Given the description of an element on the screen output the (x, y) to click on. 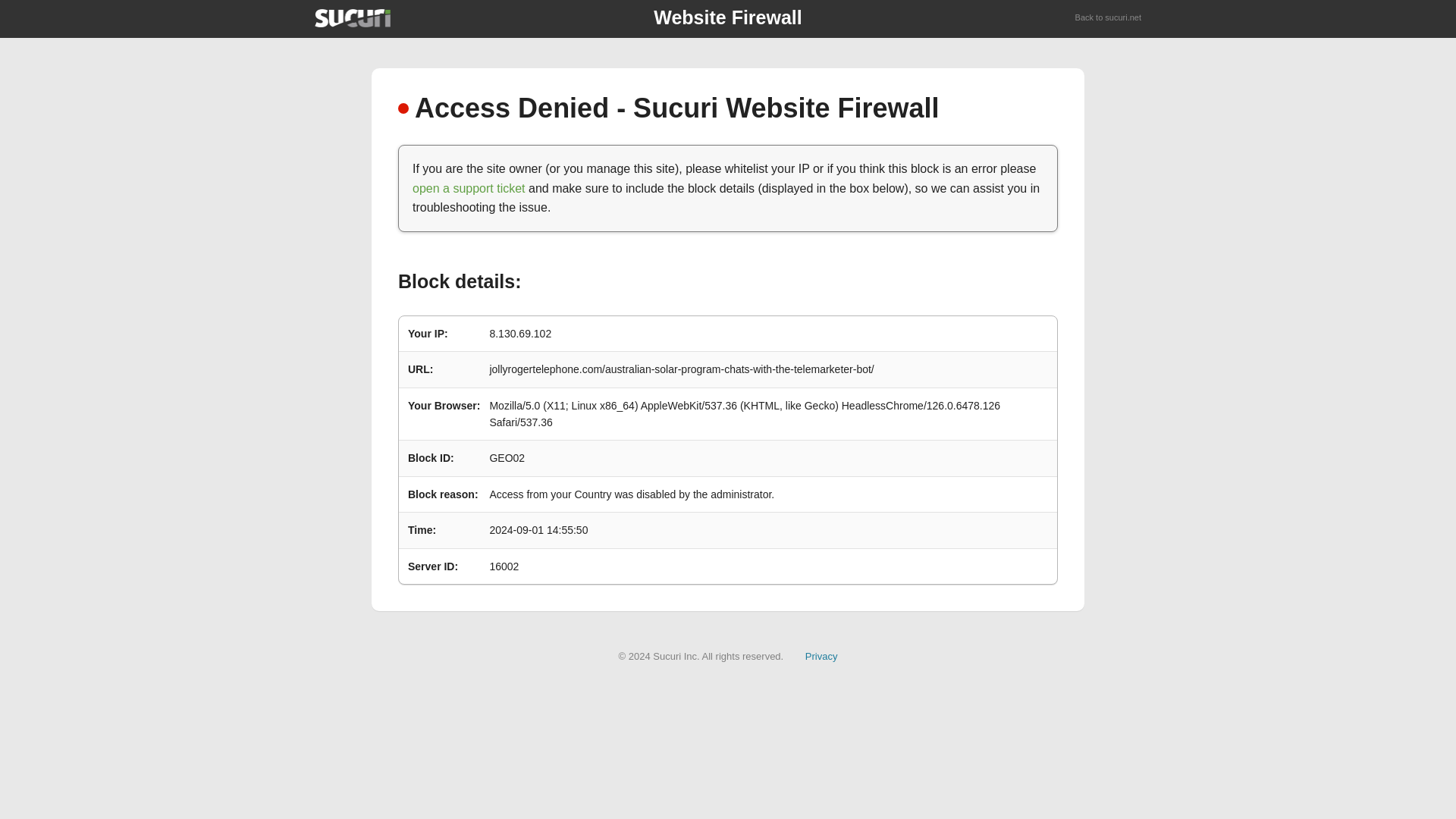
open a support ticket (468, 187)
Back to sucuri.net (1108, 18)
Privacy (821, 655)
